Given the description of an element on the screen output the (x, y) to click on. 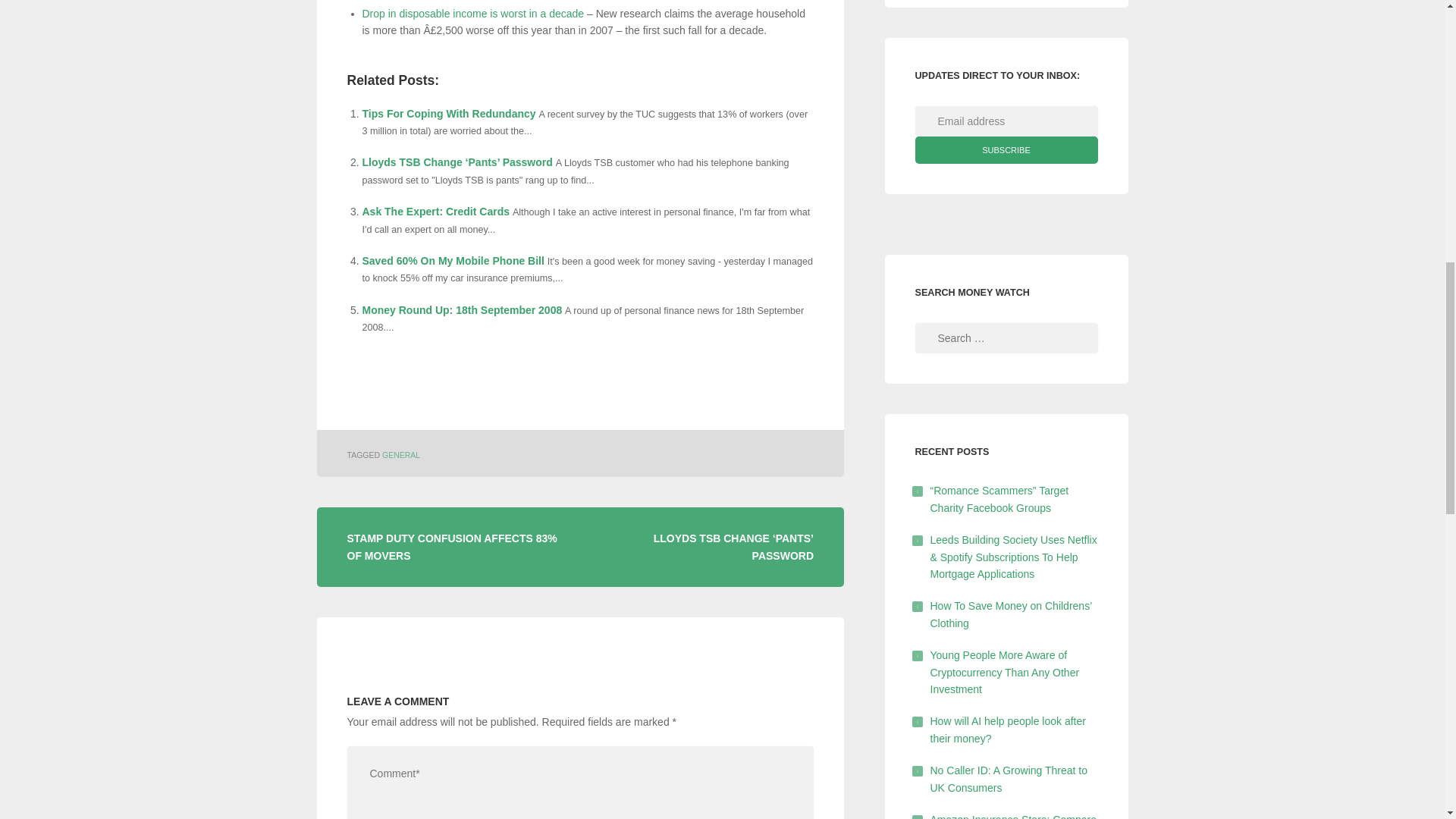
GENERAL (400, 454)
Subscribe (1005, 149)
Drop in disposable income is worst in a decade (473, 13)
Ask The Expert: Credit Cards (436, 211)
Money Round Up: 18th September 2008 (462, 309)
Tips For Coping With Redundancy (448, 113)
Email address (1005, 121)
How will AI help people look after their money? (1007, 728)
Money Round Up: 18th September 2008 (462, 309)
No Caller ID: A Growing Threat to UK Consumers (1008, 778)
Subscribe (1005, 149)
Ask The Expert: Credit Cards (436, 211)
Amazon Insurance Store: Compare and Purchase Insurance (1013, 816)
Tips For Coping With Redundancy (448, 113)
